Given the description of an element on the screen output the (x, y) to click on. 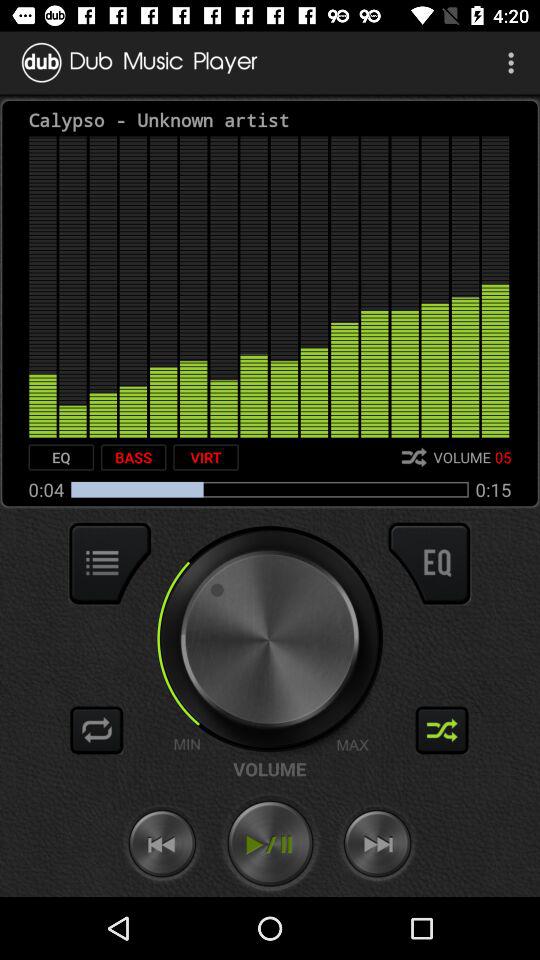
launch the icon to the left of the  bass (61, 457)
